Given the description of an element on the screen output the (x, y) to click on. 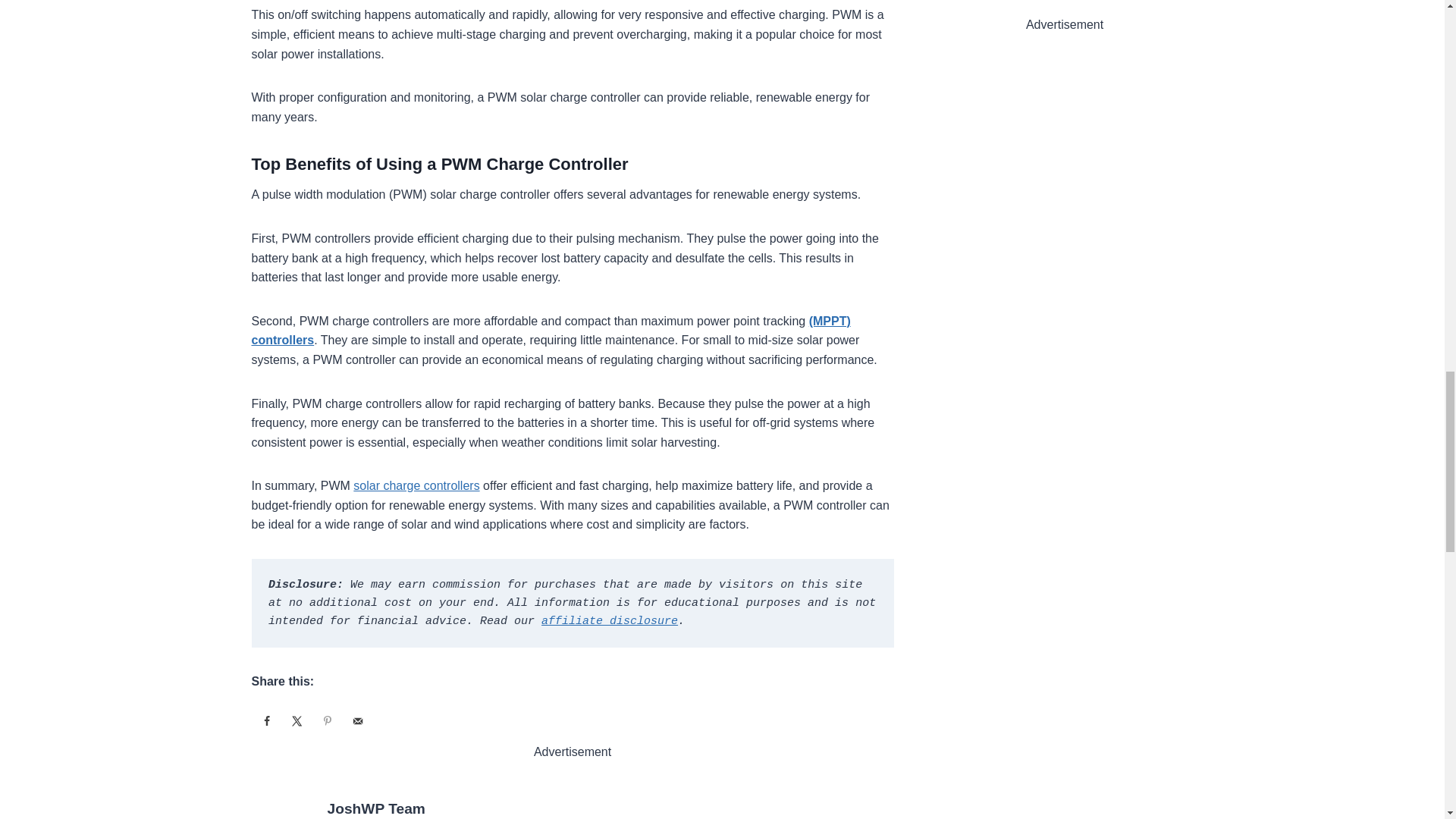
Send over email (357, 720)
solar charge controllers (416, 485)
Share on Facebook (266, 720)
Share on X (297, 720)
affiliate disclosure (609, 621)
Save to Pinterest (327, 720)
